Given the description of an element on the screen output the (x, y) to click on. 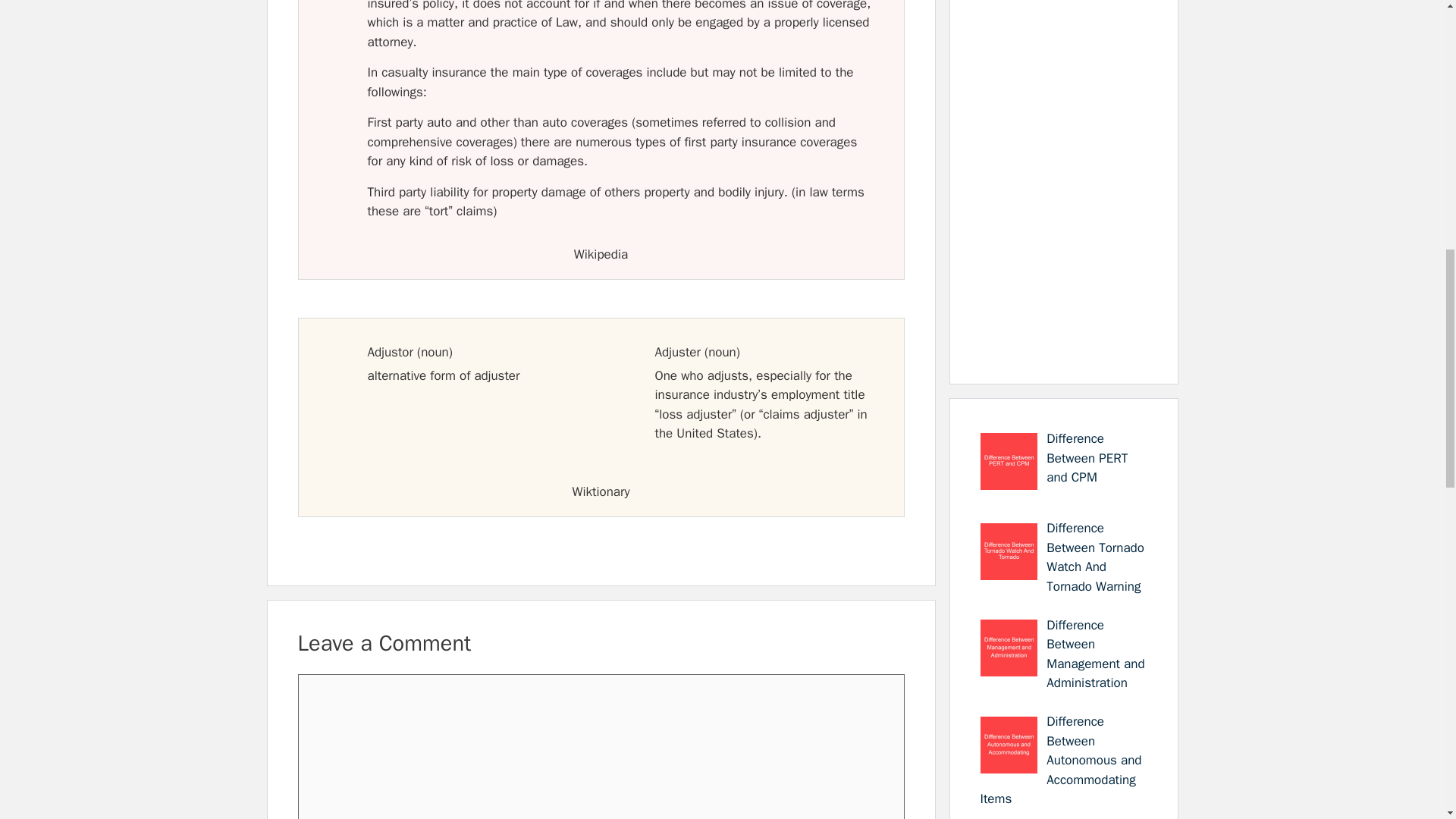
Difference Between Tornado Watch And Tornado Warning (1095, 557)
Difference Between Autonomous and Accommodating Items (1060, 759)
Difference Between PERT and CPM (1086, 457)
Difference Between Management and Administration (1095, 654)
